Given the description of an element on the screen output the (x, y) to click on. 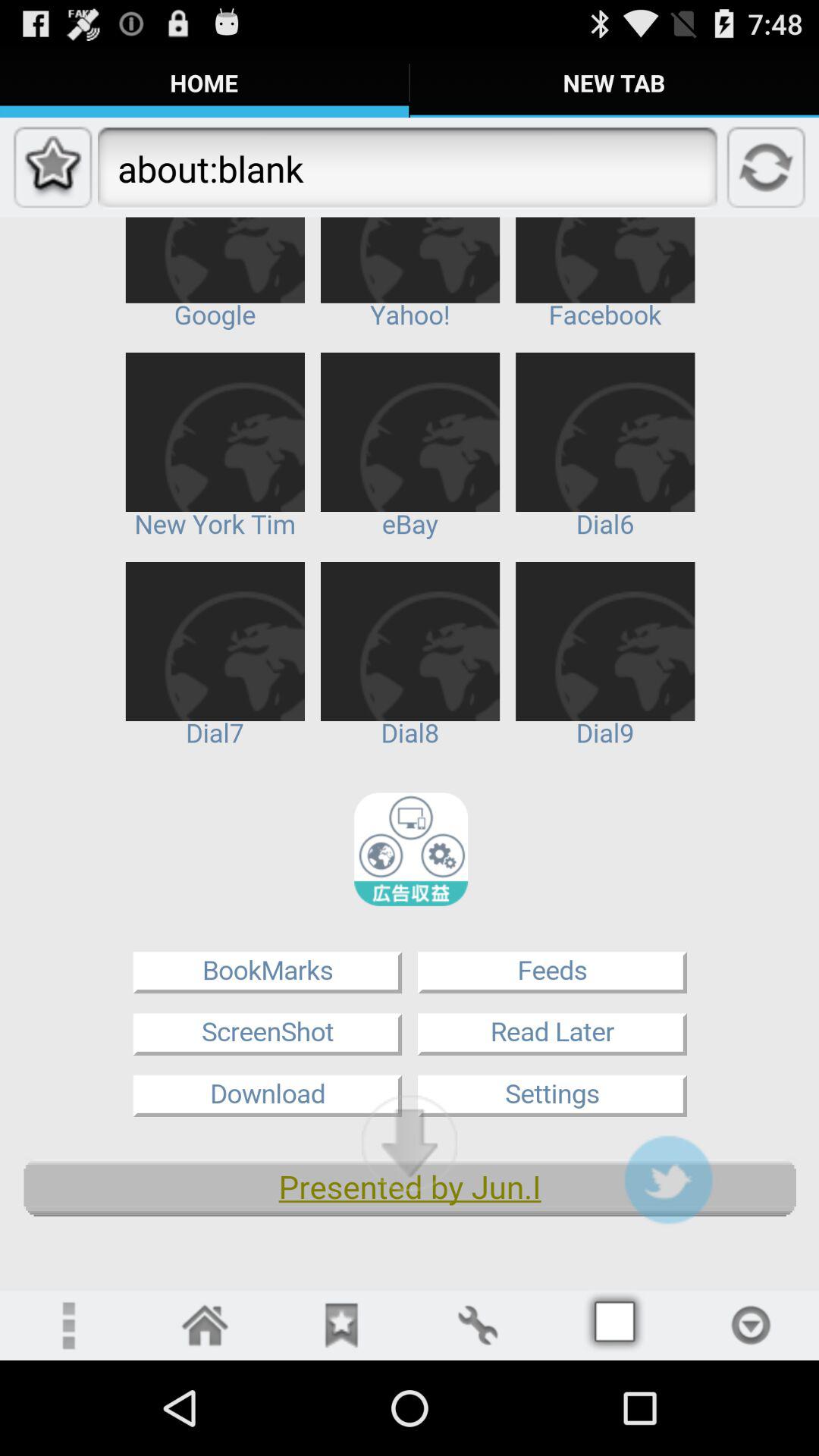
uptown button (409, 1142)
